Given the description of an element on the screen output the (x, y) to click on. 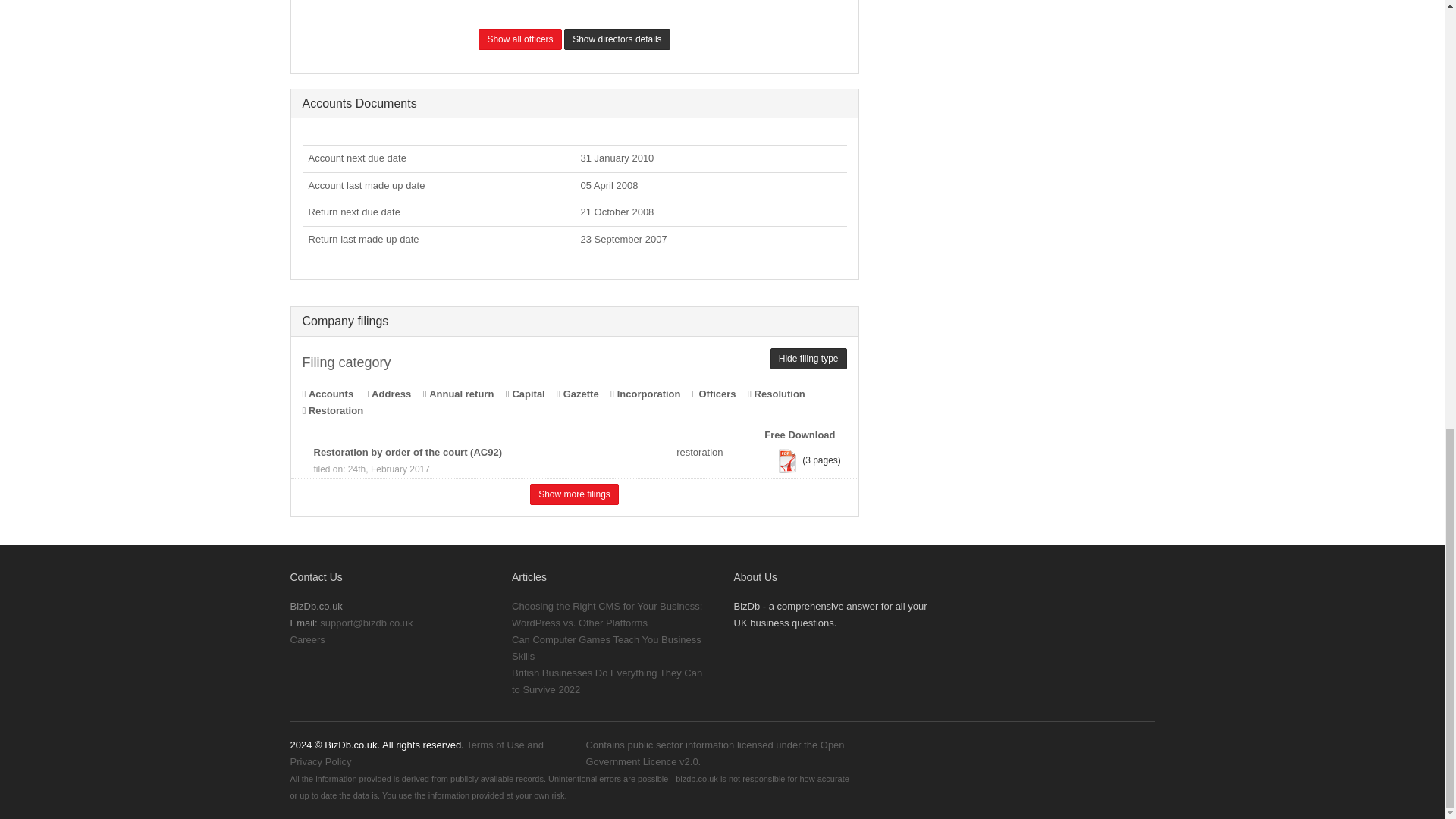
Show more filings (573, 494)
Show directors details (616, 38)
Can Computer Games Teach You Business Skills (606, 647)
British Businesses Do Everything They Can to Survive 2022 (606, 681)
Download the filing (787, 460)
Careers (306, 639)
Terms of Use and Privacy Policy (416, 753)
Articles (529, 576)
Show all officers (519, 38)
